Given the description of an element on the screen output the (x, y) to click on. 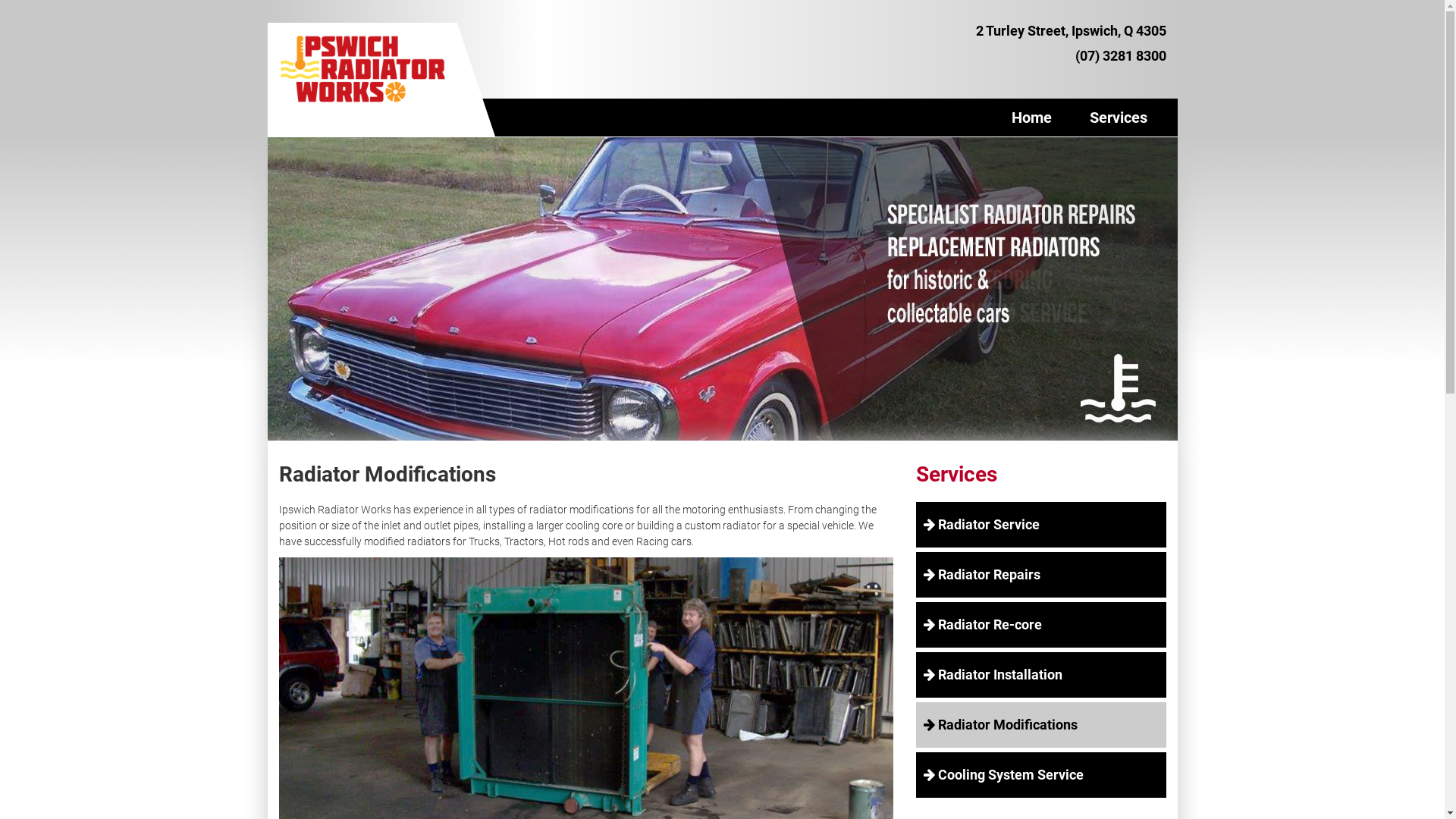
Home Element type: text (1030, 117)
Radiator Service Element type: text (1040, 524)
Services Element type: text (1118, 117)
Radiator Repairs Element type: text (1040, 574)
Radiator Re-core Element type: text (1040, 624)
Cooling System Service Element type: text (1040, 774)
2 Turley Street, Ipswich, Q 4305 Element type: text (1070, 30)
Radiator Installation Element type: text (1040, 674)
(07) 3281 8300 Element type: text (1120, 55)
Radiator Modifications Element type: text (1040, 724)
